Given the description of an element on the screen output the (x, y) to click on. 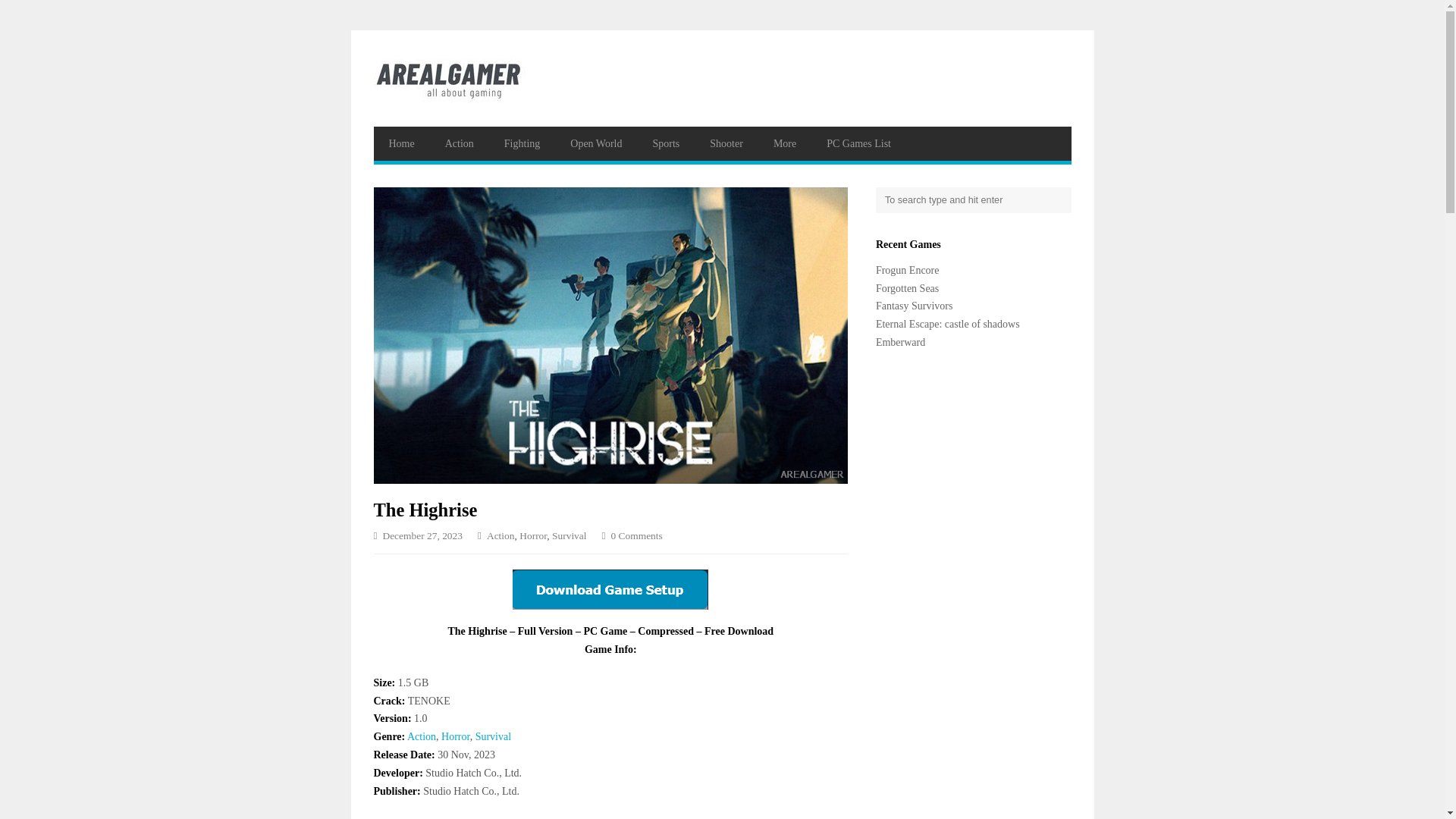
Home (400, 143)
0 Comments (632, 536)
Action (421, 736)
Action (459, 143)
Sports (666, 143)
Horror (455, 736)
Horror (455, 736)
Shooter (726, 143)
Survival (493, 736)
Survival (493, 736)
